Given the description of an element on the screen output the (x, y) to click on. 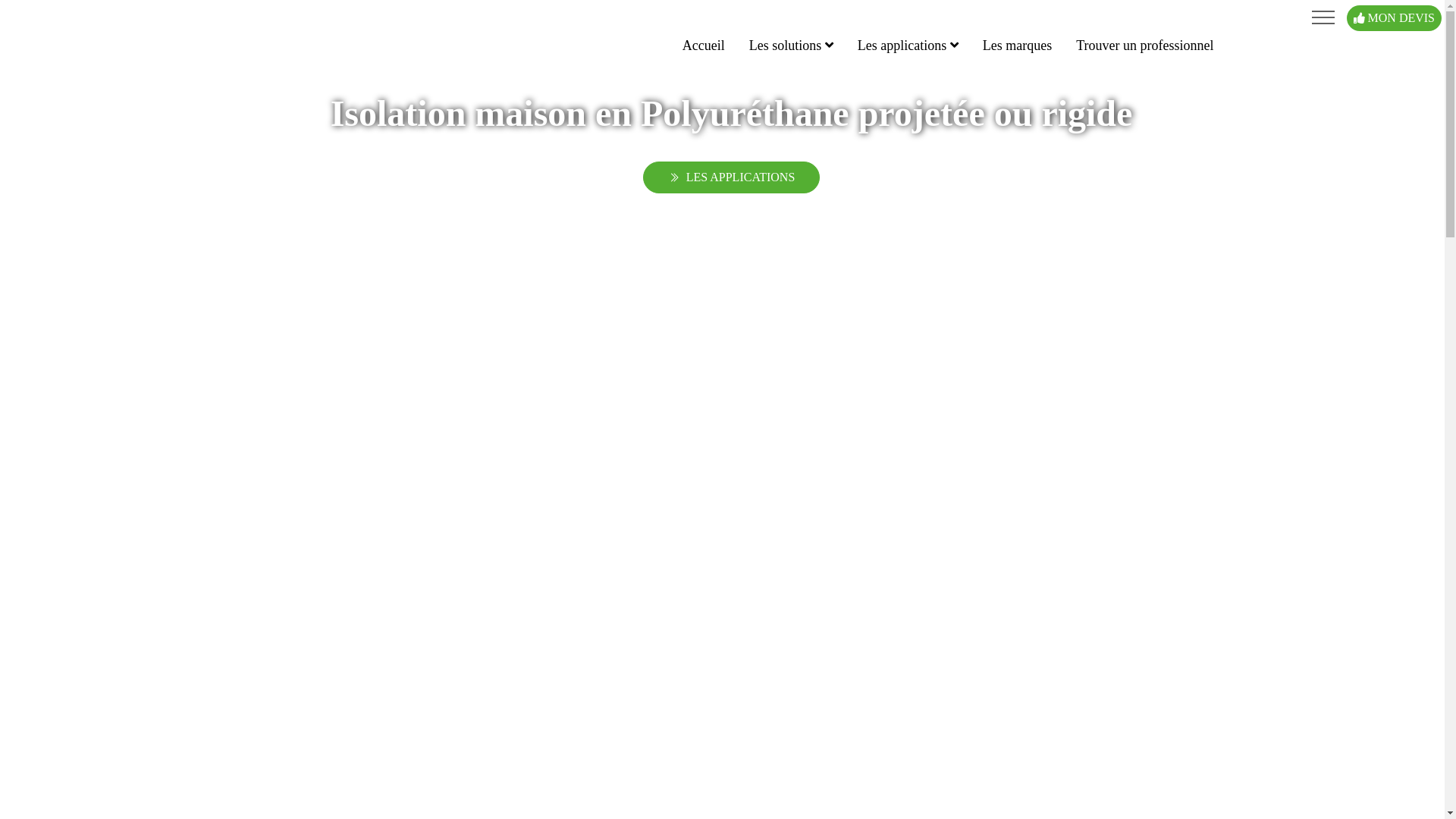
Les solutions Element type: text (791, 45)
Accueil Element type: text (703, 45)
LES APPLICATIONS Element type: text (731, 177)
Les applications Element type: text (907, 45)
MON DEVIS Element type: text (1393, 18)
Les marques Element type: text (1016, 45)
Trouver un professionnel Element type: text (1144, 45)
